Given the description of an element on the screen output the (x, y) to click on. 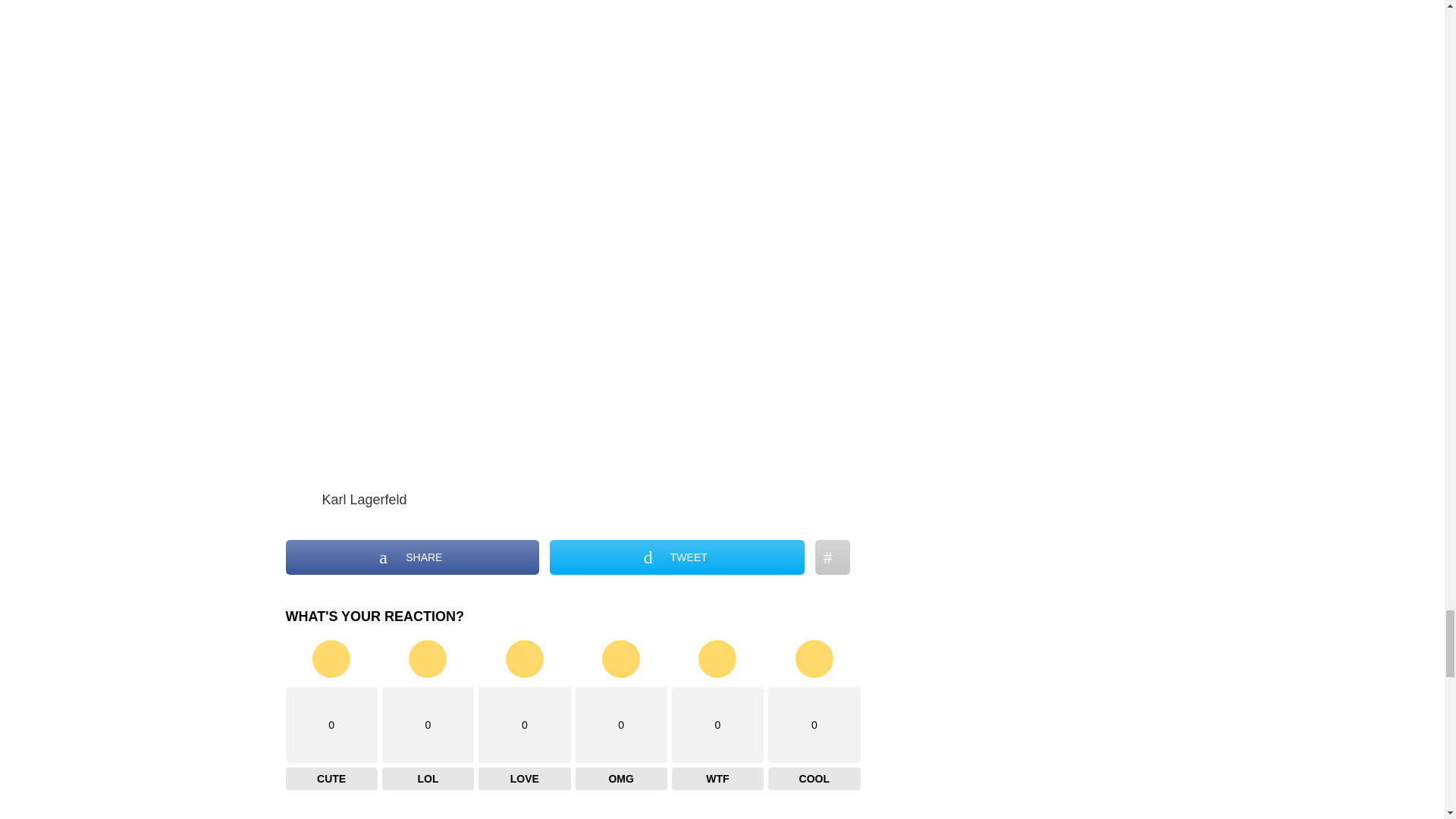
Share on Share (411, 556)
Share on Tweet (676, 556)
Share on More Button (832, 556)
